Given the description of an element on the screen output the (x, y) to click on. 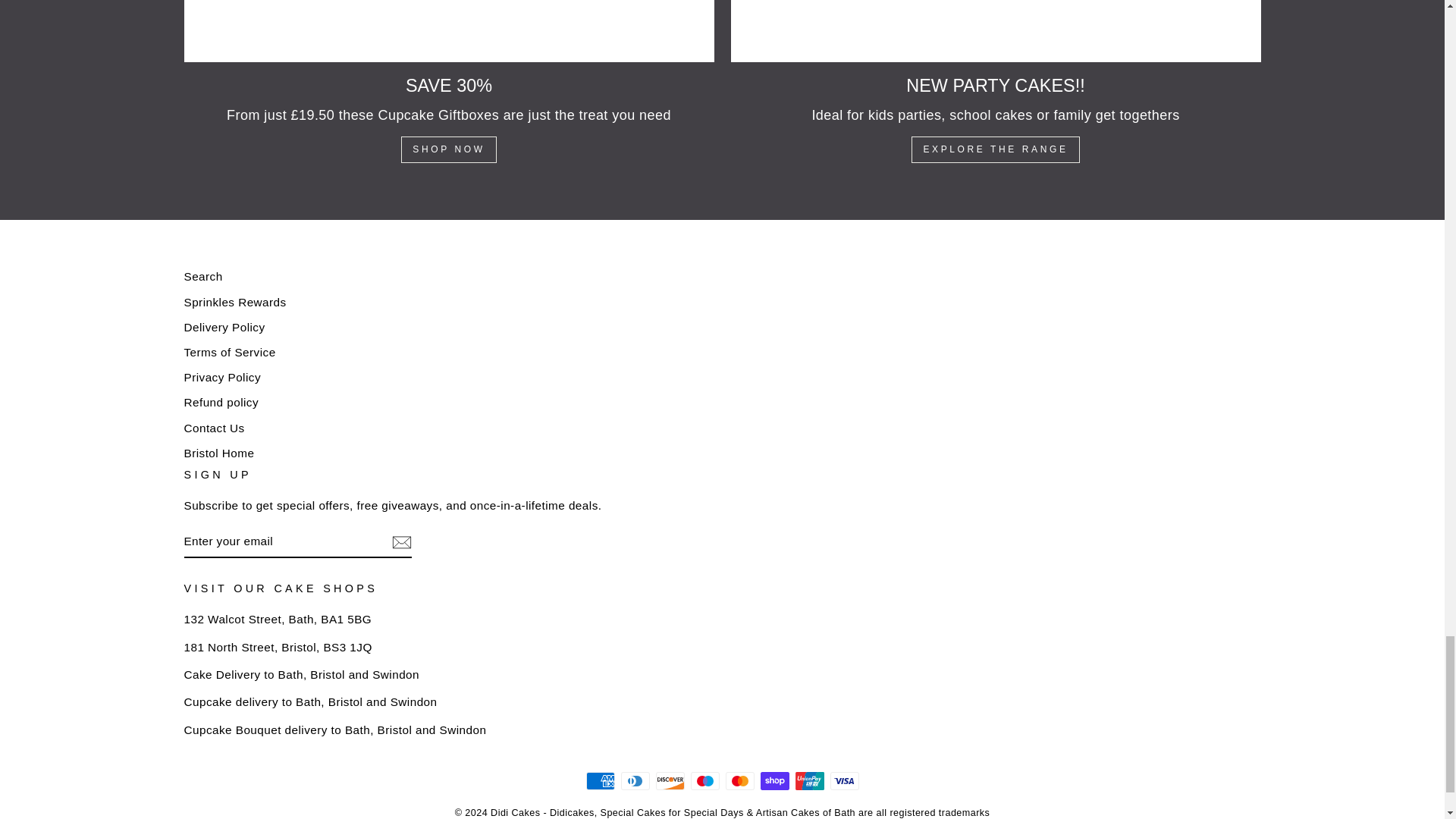
Discover (669, 781)
American Express (599, 781)
Maestro (704, 781)
Shop Pay (774, 781)
Diners Club (634, 781)
Mastercard (739, 781)
